Given the description of an element on the screen output the (x, y) to click on. 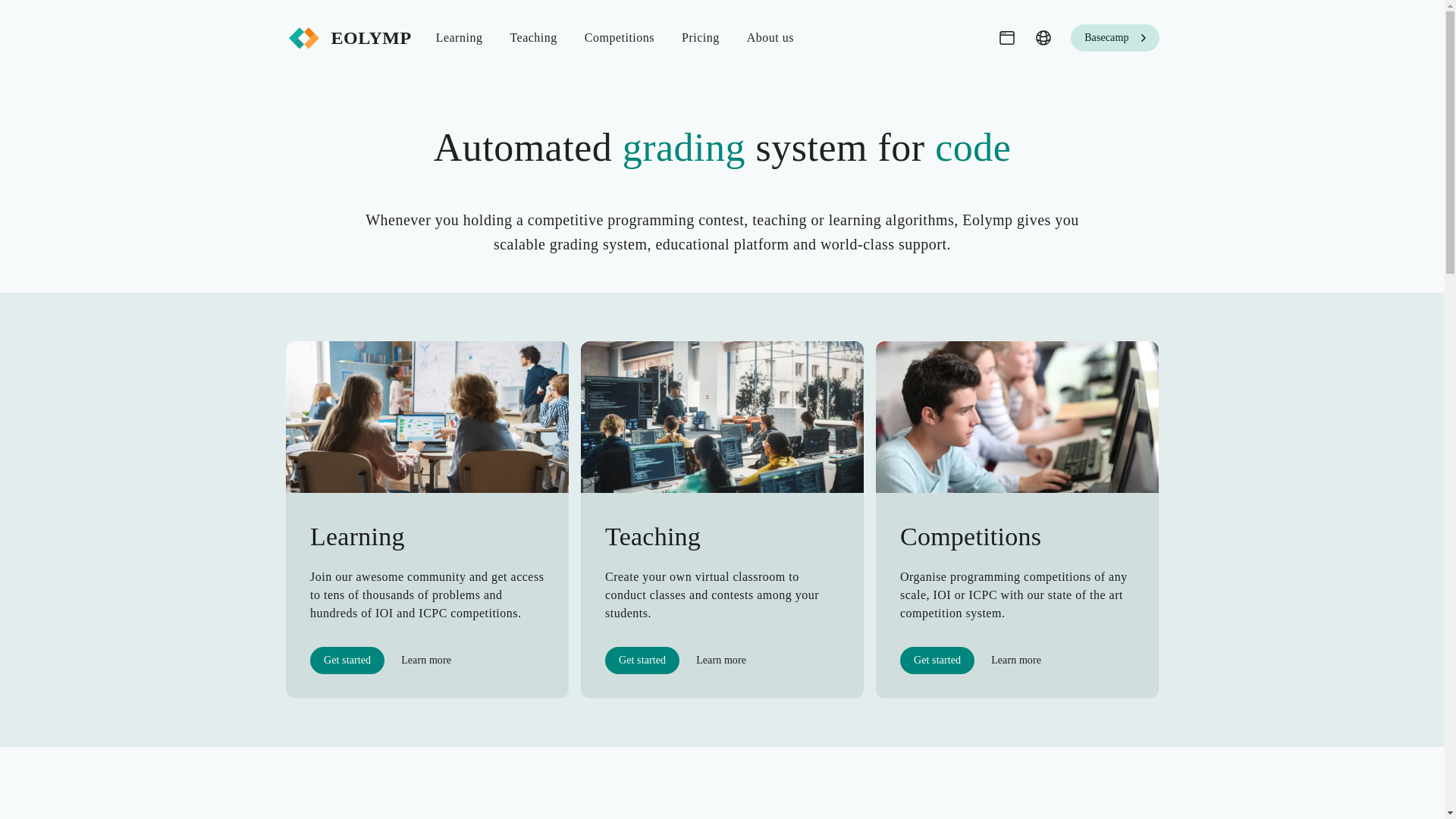
EOLYMP (347, 37)
Pricing (700, 37)
Learning (459, 37)
Teaching (533, 37)
Learn more (425, 660)
Get started (642, 660)
Learn more (721, 660)
Learn more (1015, 660)
Competitions (619, 37)
Basecamp (1114, 37)
